Given the description of an element on the screen output the (x, y) to click on. 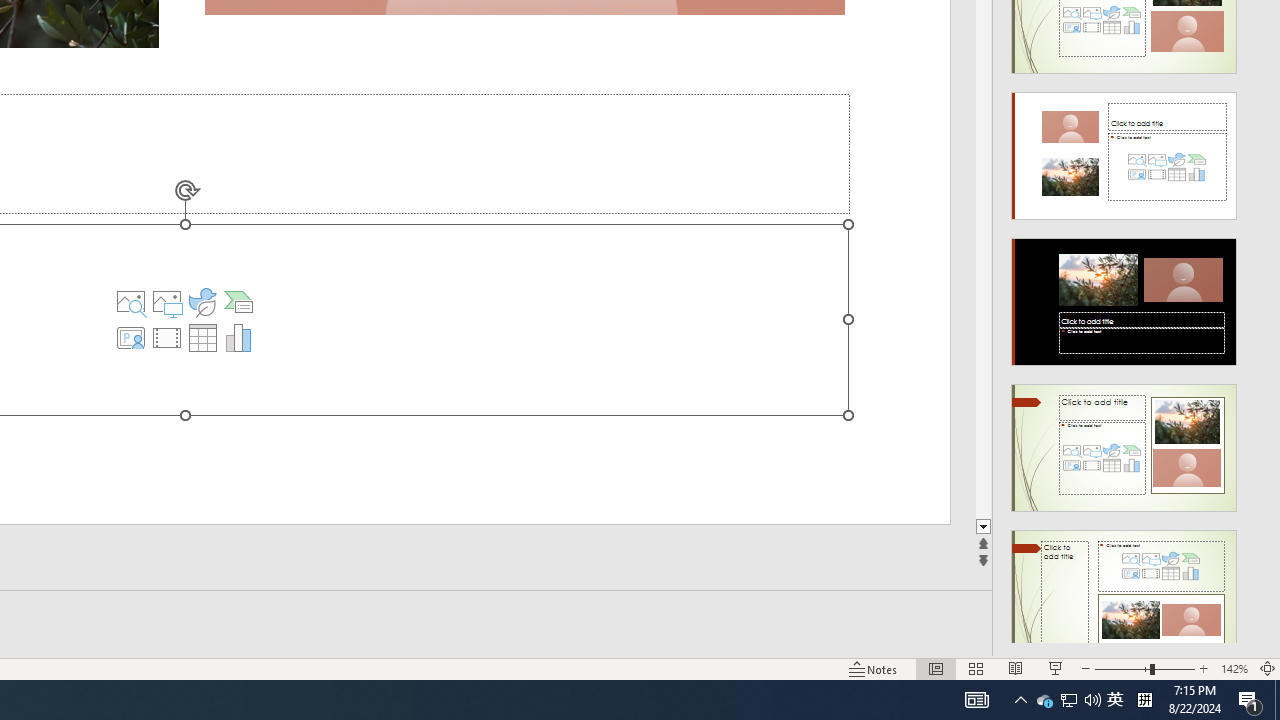
Zoom 142% (1234, 668)
Design Idea (1124, 587)
Insert Cameo (131, 337)
Action Center, 1 new notification (1250, 699)
